Given the description of an element on the screen output the (x, y) to click on. 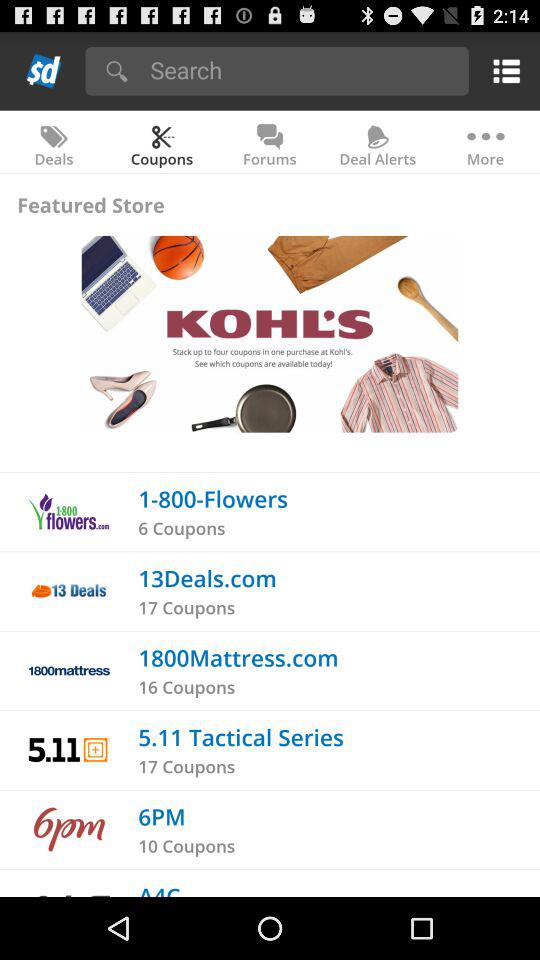
choose the item above the more (502, 70)
